Given the description of an element on the screen output the (x, y) to click on. 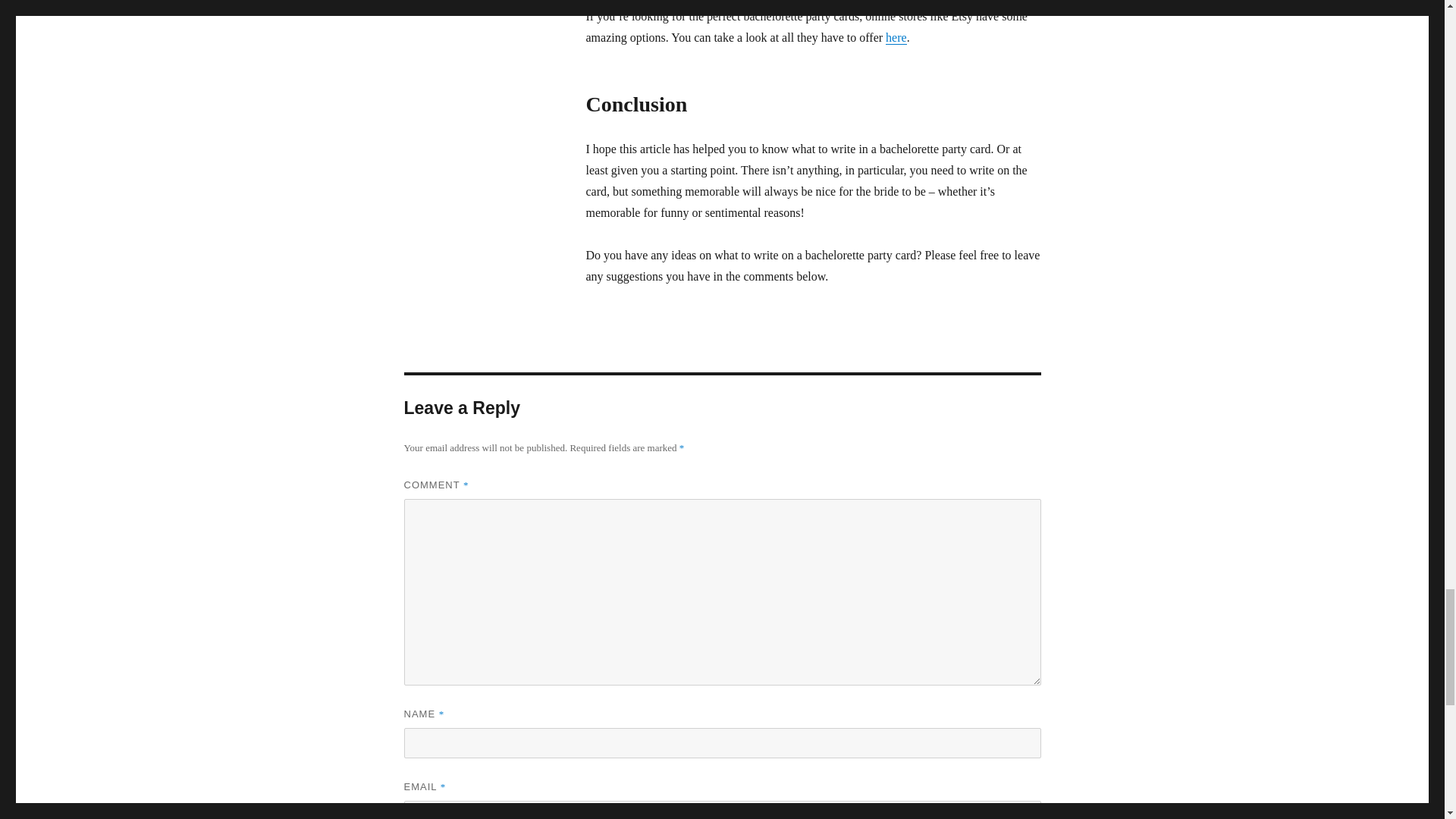
here (896, 37)
